Given the description of an element on the screen output the (x, y) to click on. 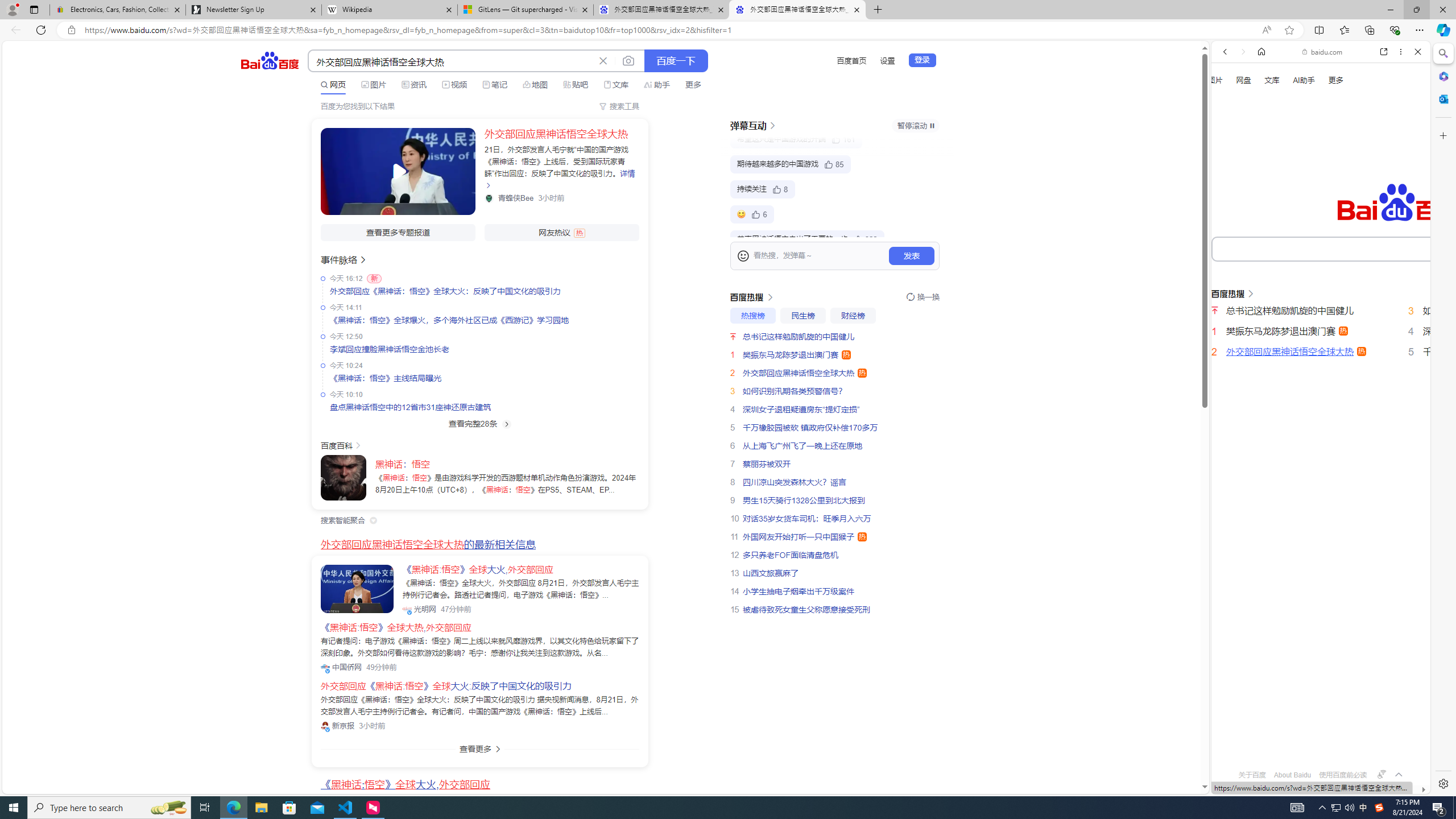
Learn more (1264, 154)
Cambridge Dictionary (1315, 397)
